Given the description of an element on the screen output the (x, y) to click on. 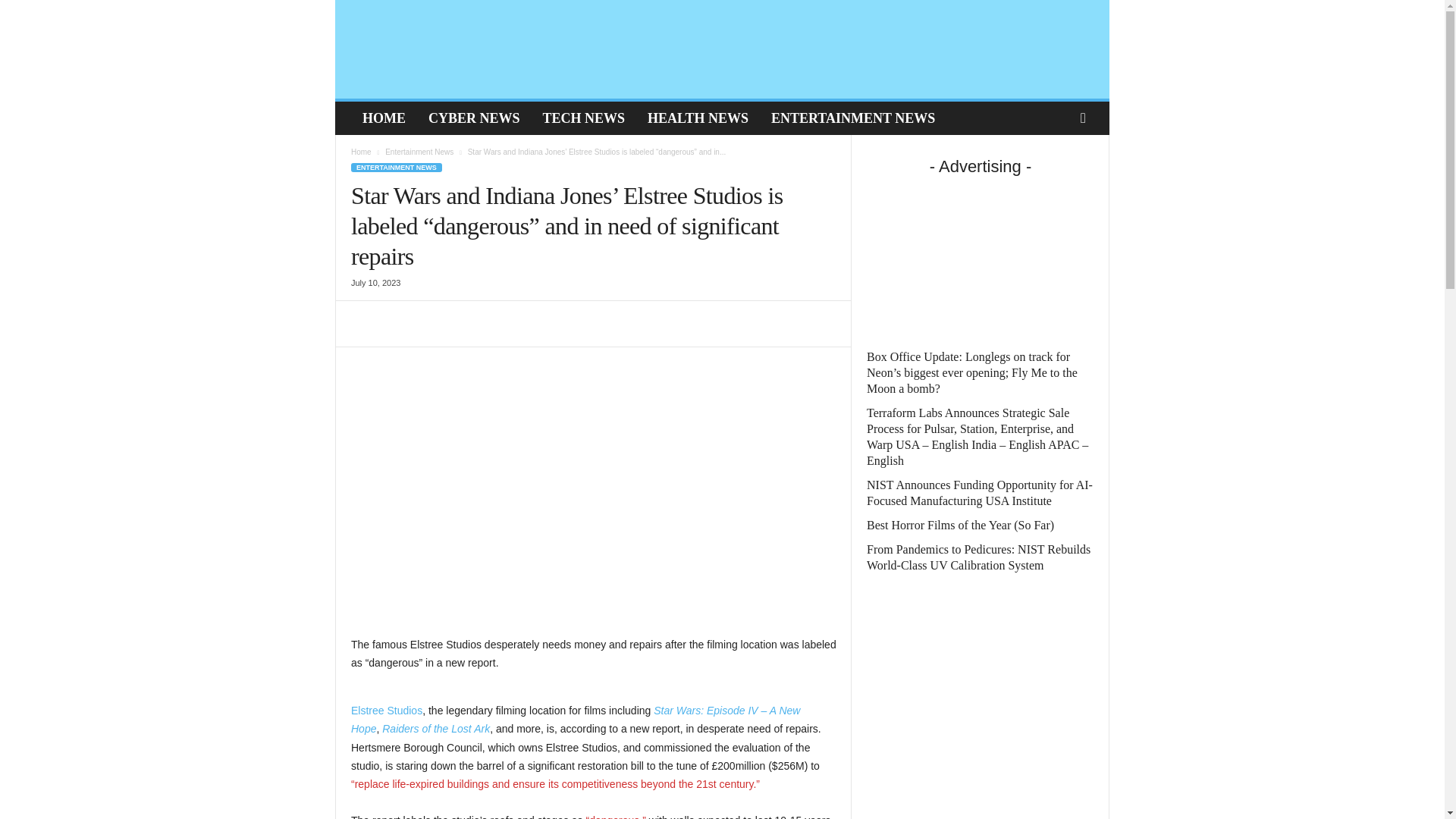
ENTERTAINMENT NEWS (853, 118)
HOME (383, 118)
View all posts in Entertainment News (418, 152)
TECH NEWS (584, 118)
Entertainment News (418, 152)
Kaj News (442, 48)
Home (360, 152)
Raiders of the Lost Ark (435, 728)
CYBER NEWS (473, 118)
kaj news (441, 49)
Elstree Studios (386, 710)
HEALTH NEWS (698, 118)
ENTERTAINMENT NEWS (396, 166)
